Given the description of an element on the screen output the (x, y) to click on. 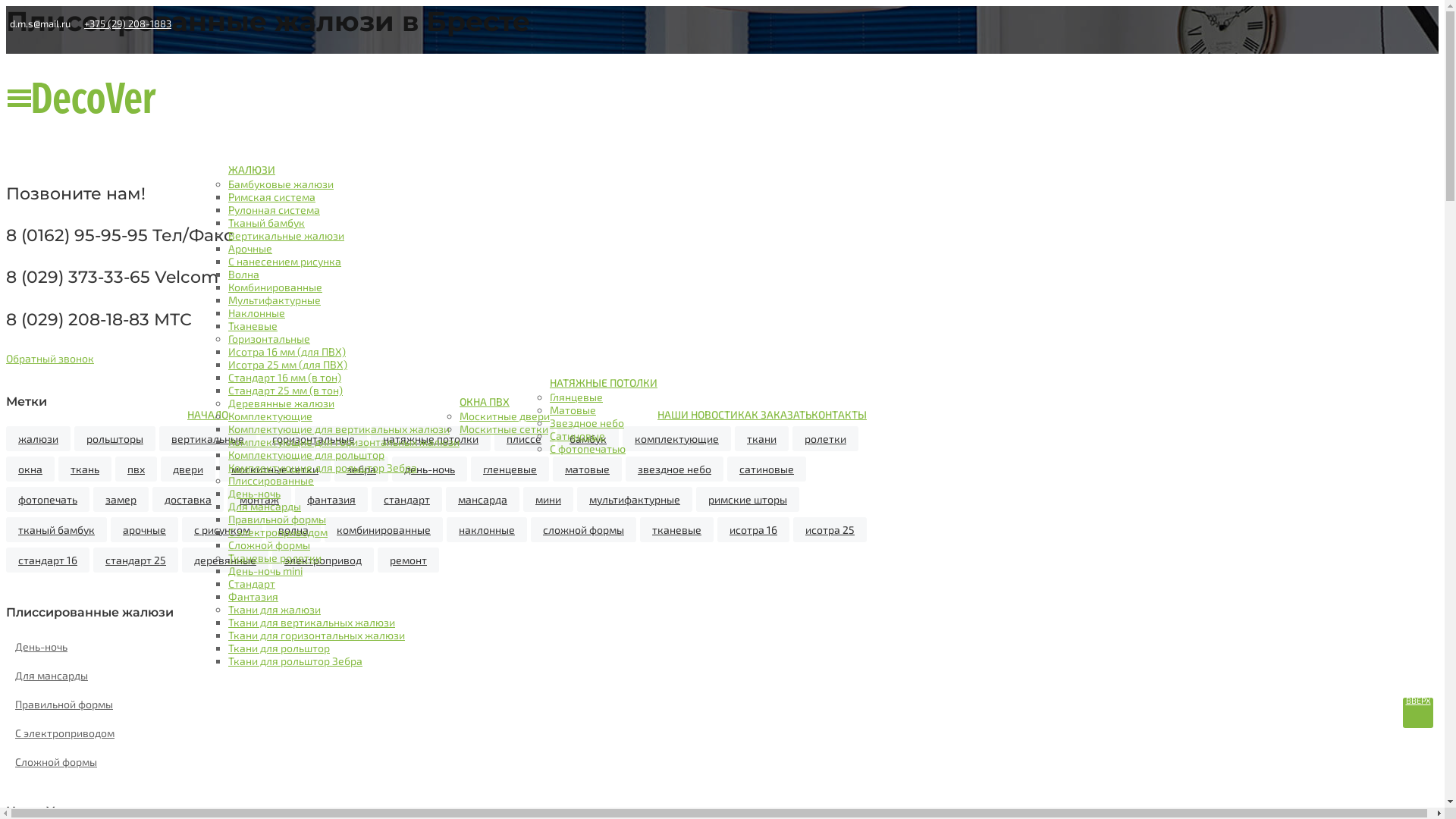
sisea.search Element type: text (1425, 667)
+375 (29) 208-1883 Element type: text (127, 23)
